Given the description of an element on the screen output the (x, y) to click on. 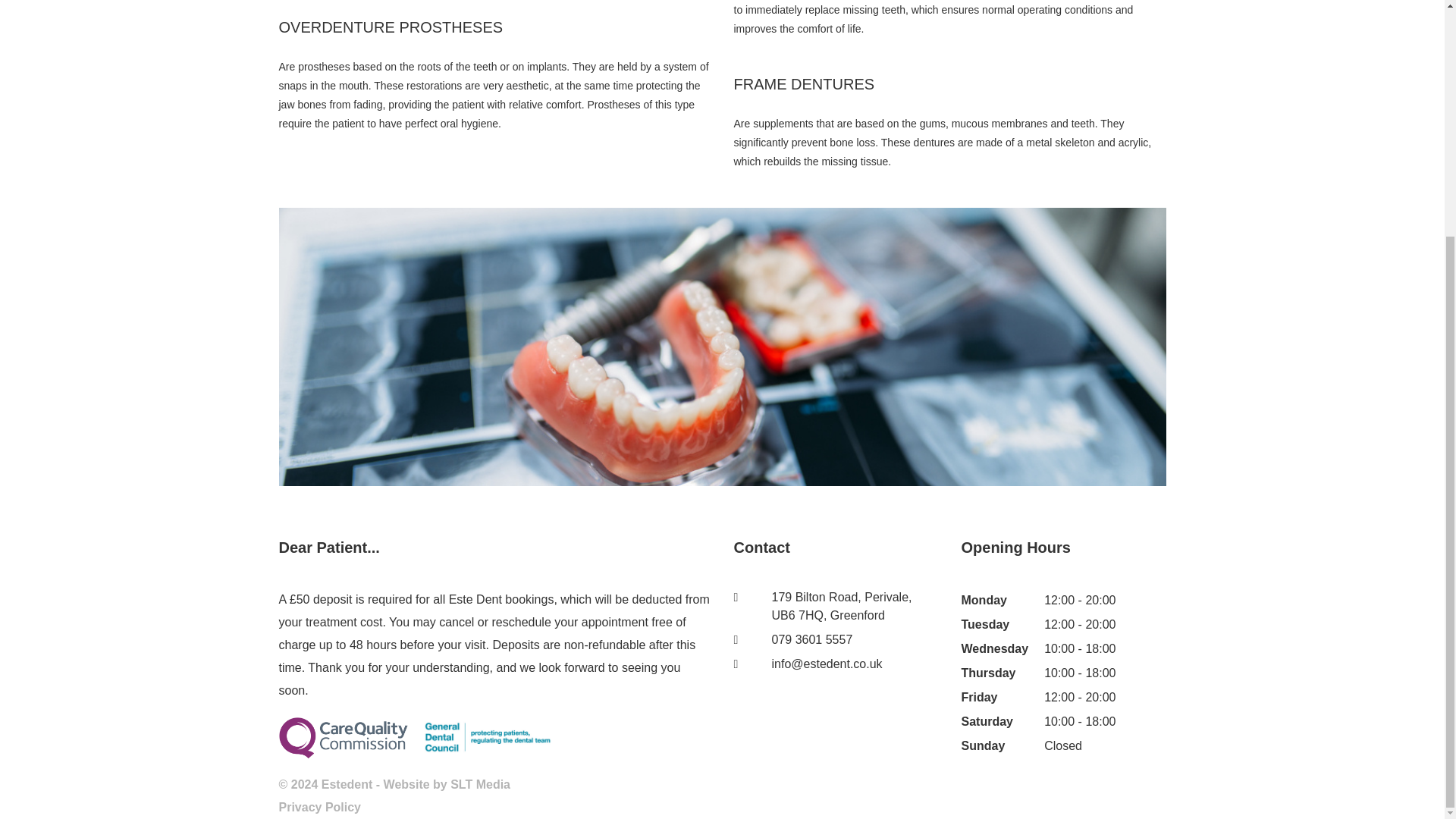
SLT Media (480, 784)
079 3601 5557 (812, 639)
Privacy Policy (320, 807)
